Given the description of an element on the screen output the (x, y) to click on. 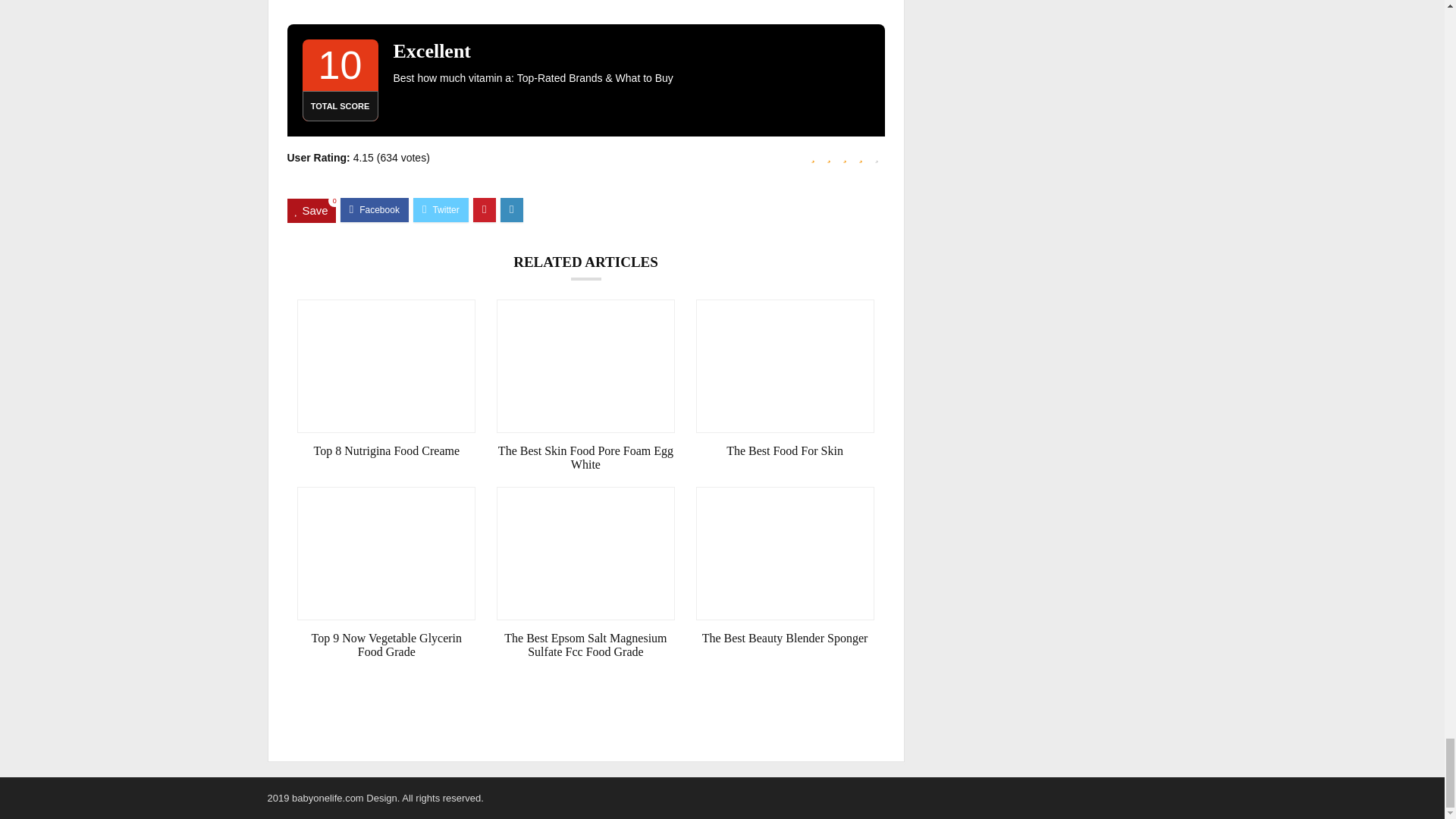
The Best Food For Skin (785, 450)
The Best Epsom Salt Magnesium Sulfate Fcc Food Grade (585, 645)
The Best Skin Food Pore Foam Egg White (585, 457)
Top 8 Nutrigina Food Creame (386, 450)
The Best Beauty Blender Sponger (785, 638)
Top 9 Now Vegetable Glycerin Food Grade (386, 645)
